Given the description of an element on the screen output the (x, y) to click on. 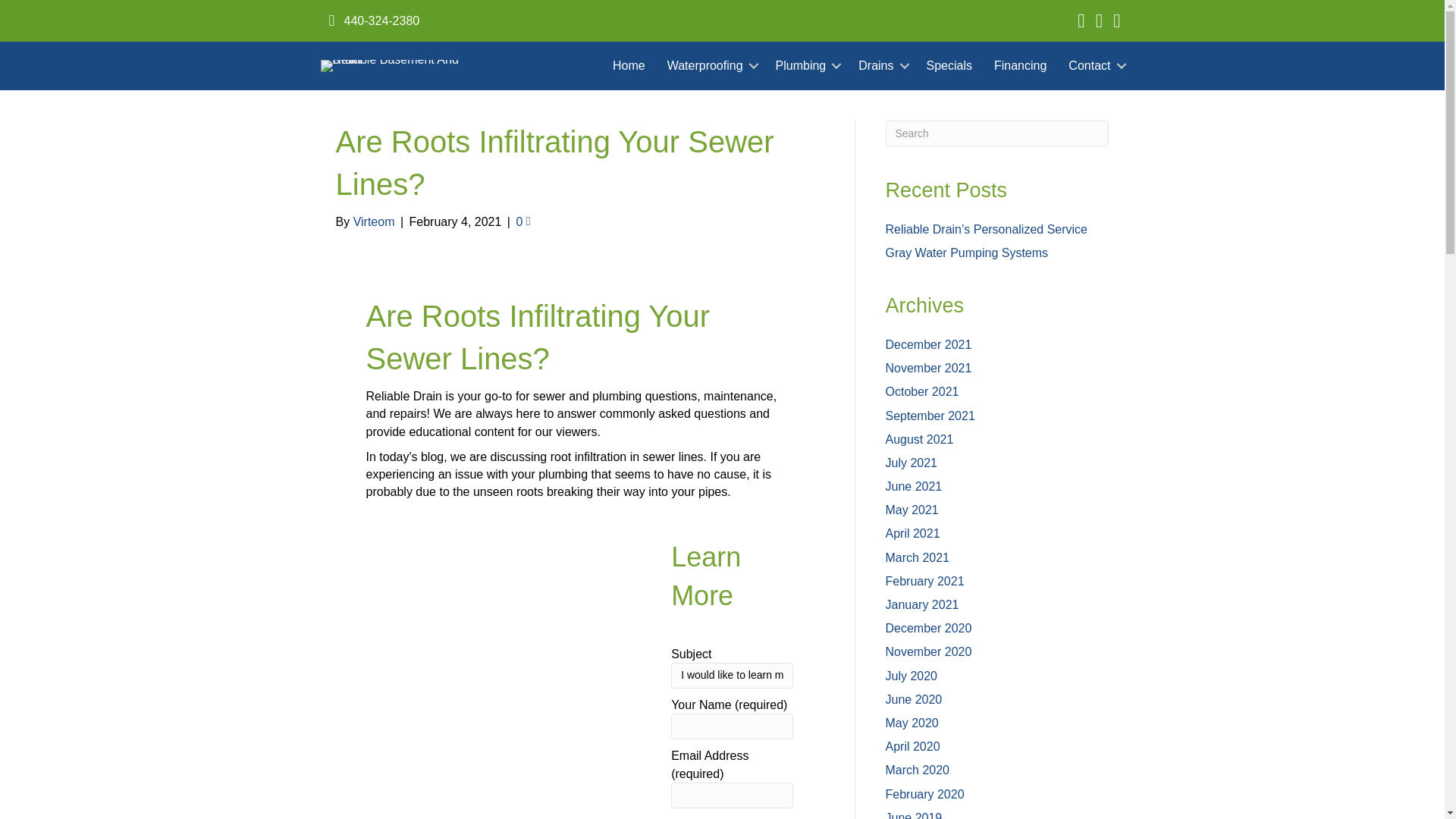
Type and press Enter to search. (997, 133)
Specials (948, 65)
I would like to learn more.... (732, 675)
Reliable Basement And Drain Logo (390, 65)
Financing (1020, 65)
Drains (880, 65)
Waterproofing (710, 65)
Plumbing (806, 65)
Home (629, 65)
440-324-2380 (378, 20)
